Given the description of an element on the screen output the (x, y) to click on. 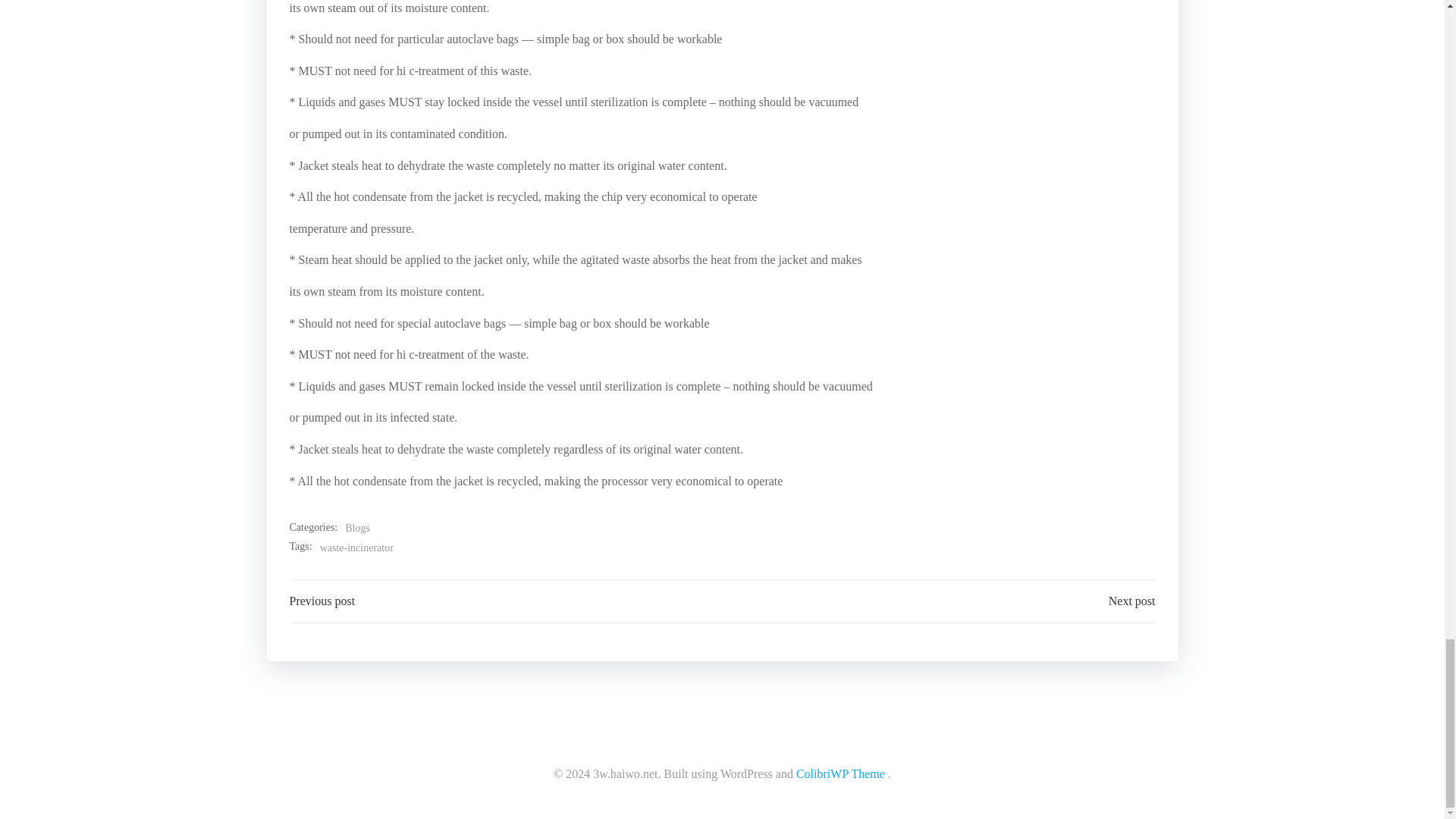
Previous post (322, 601)
Blogs (357, 528)
waste-incinerator (356, 547)
Tag: waste-incinerator (356, 547)
Next post (1132, 601)
